Given the description of an element on the screen output the (x, y) to click on. 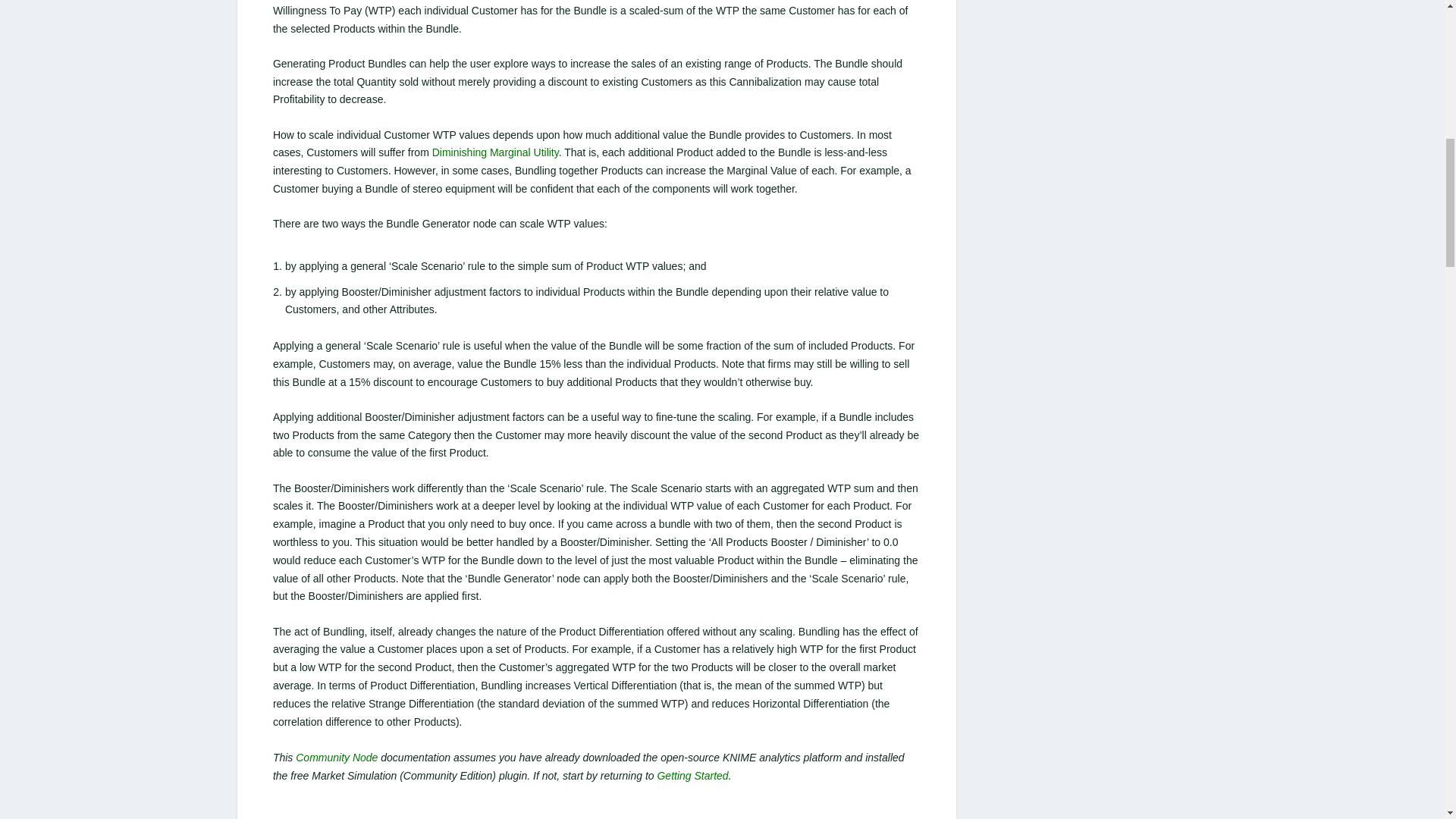
Market Simulation: Community Nodes (336, 757)
Getting Started (692, 775)
Diminishing Marginal Utility (495, 152)
Market Simulation: Getting Started (692, 775)
Community Node (336, 757)
